Given the description of an element on the screen output the (x, y) to click on. 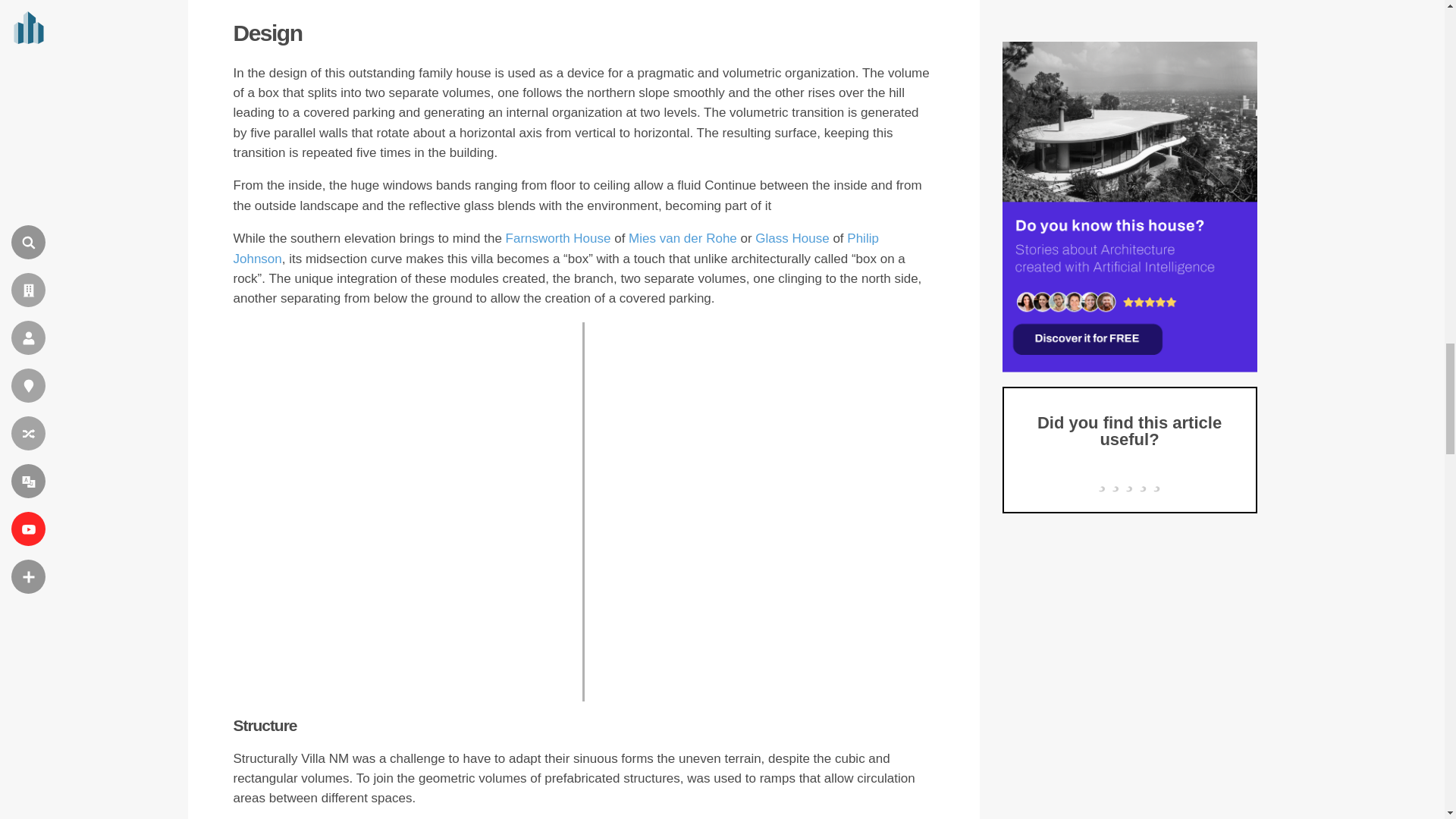
Farnsworth House (558, 237)
Mies van der Rohe (682, 237)
